Given the description of an element on the screen output the (x, y) to click on. 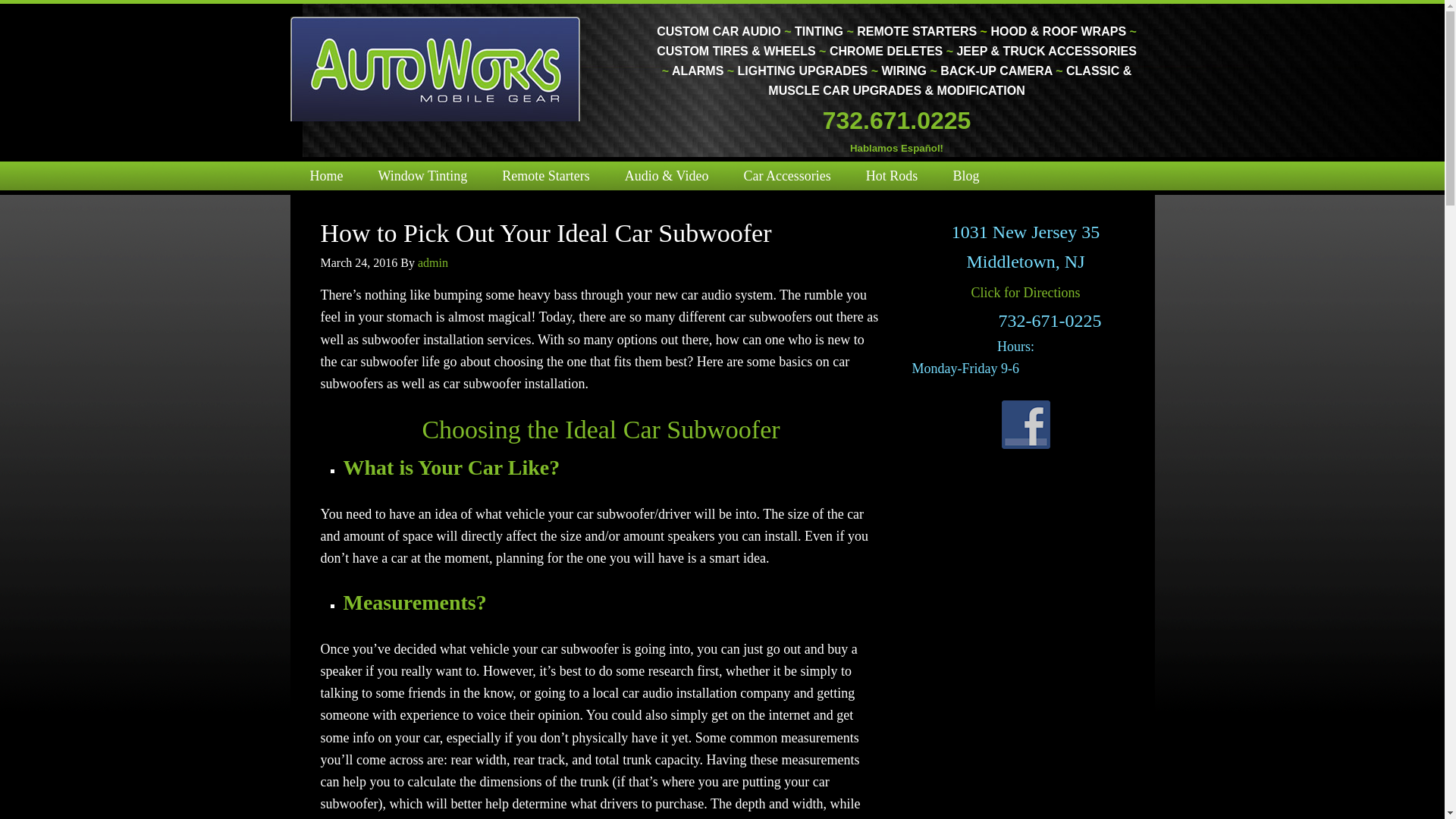
Follow Us on Facebook (1025, 424)
Blog (965, 175)
Remote Starters (545, 175)
Window Tinting (422, 175)
Car Accessories (785, 175)
Home (325, 175)
Hot Rods (892, 175)
admin (432, 262)
How to Pick Out Your Ideal Car Subwoofer (545, 233)
